Given the description of an element on the screen output the (x, y) to click on. 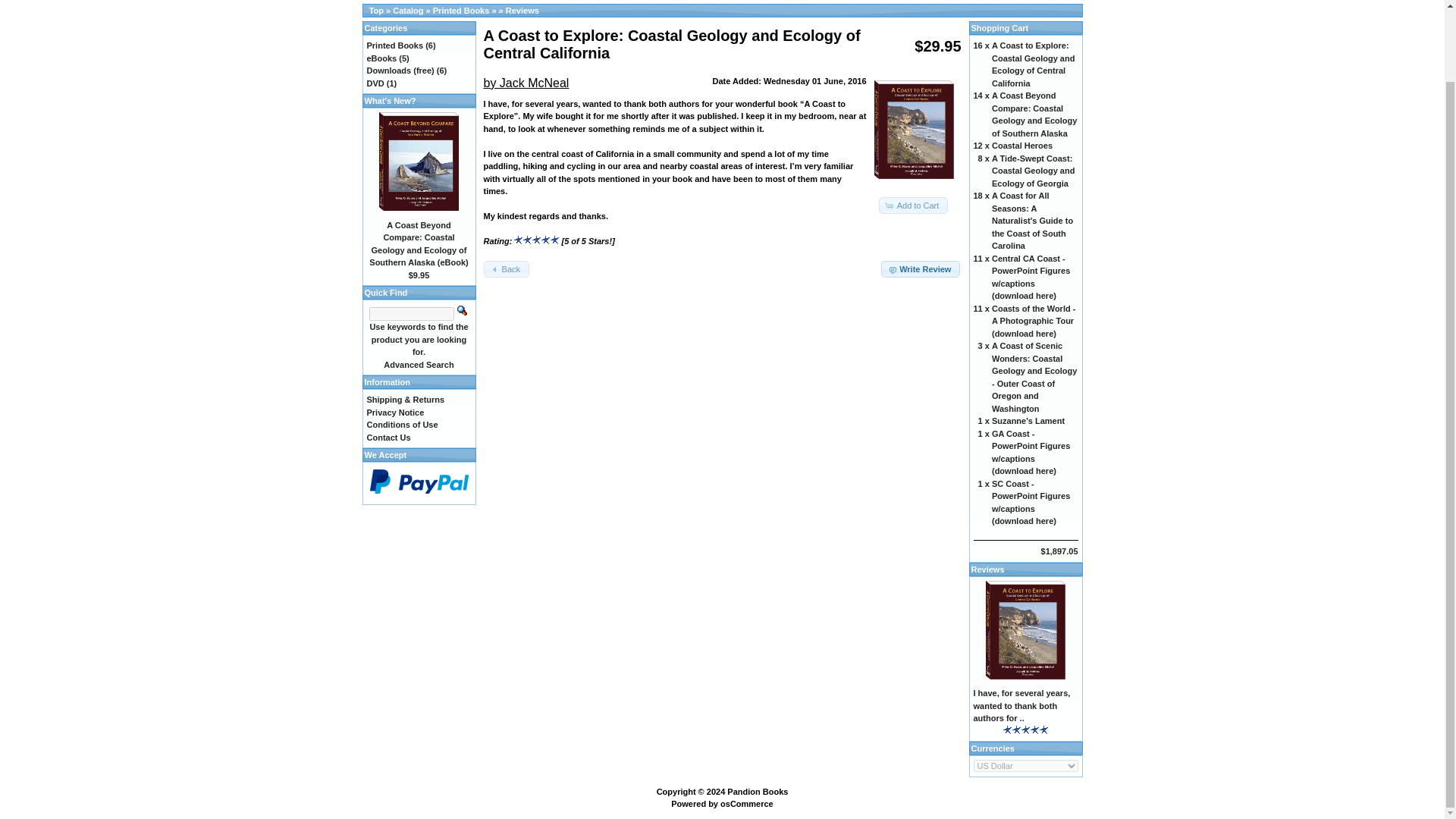
Reviews (987, 569)
eBooks (381, 58)
Conditions of Use (402, 424)
Printed Books (460, 10)
Suzanne's Lament (1027, 420)
A Tide-Swept Coast: Coastal Geology and Ecology of Georgia (1032, 170)
5 of 5 Stars! (1025, 729)
Catalog (408, 10)
Coastal Heroes (1021, 144)
Add to Cart (914, 205)
Top (376, 10)
Contact Us (388, 437)
